Given the description of an element on the screen output the (x, y) to click on. 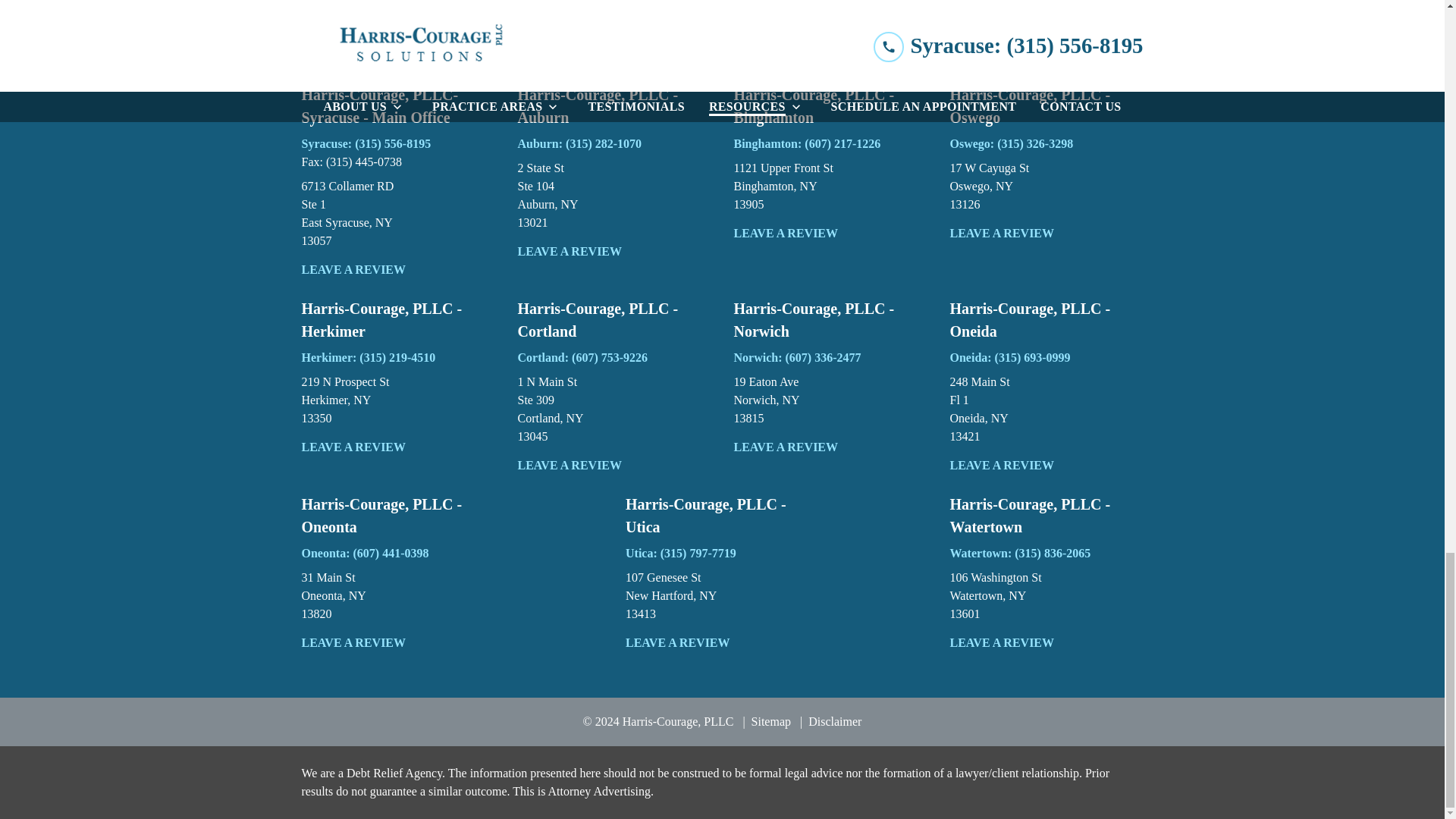
LEAVE A REVIEW (398, 213)
LEAVE A REVIEW (398, 270)
